Given the description of an element on the screen output the (x, y) to click on. 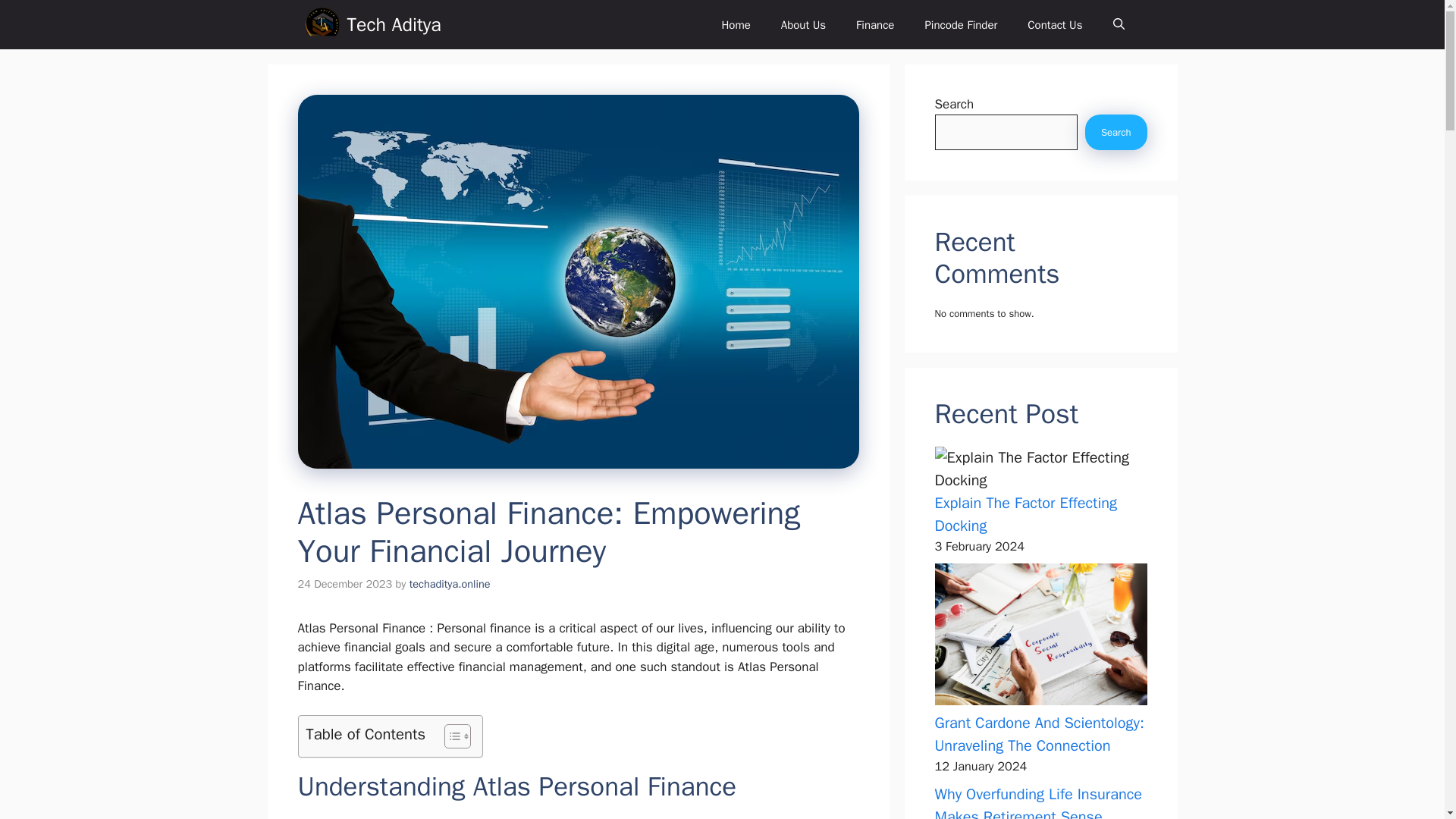
techaditya.online (449, 583)
Pincode Finder (959, 23)
About Us (803, 23)
Finance (874, 23)
View all posts by techaditya.online (449, 583)
Contact Us (1054, 23)
Tech Aditya (394, 24)
Home (735, 23)
